Given the description of an element on the screen output the (x, y) to click on. 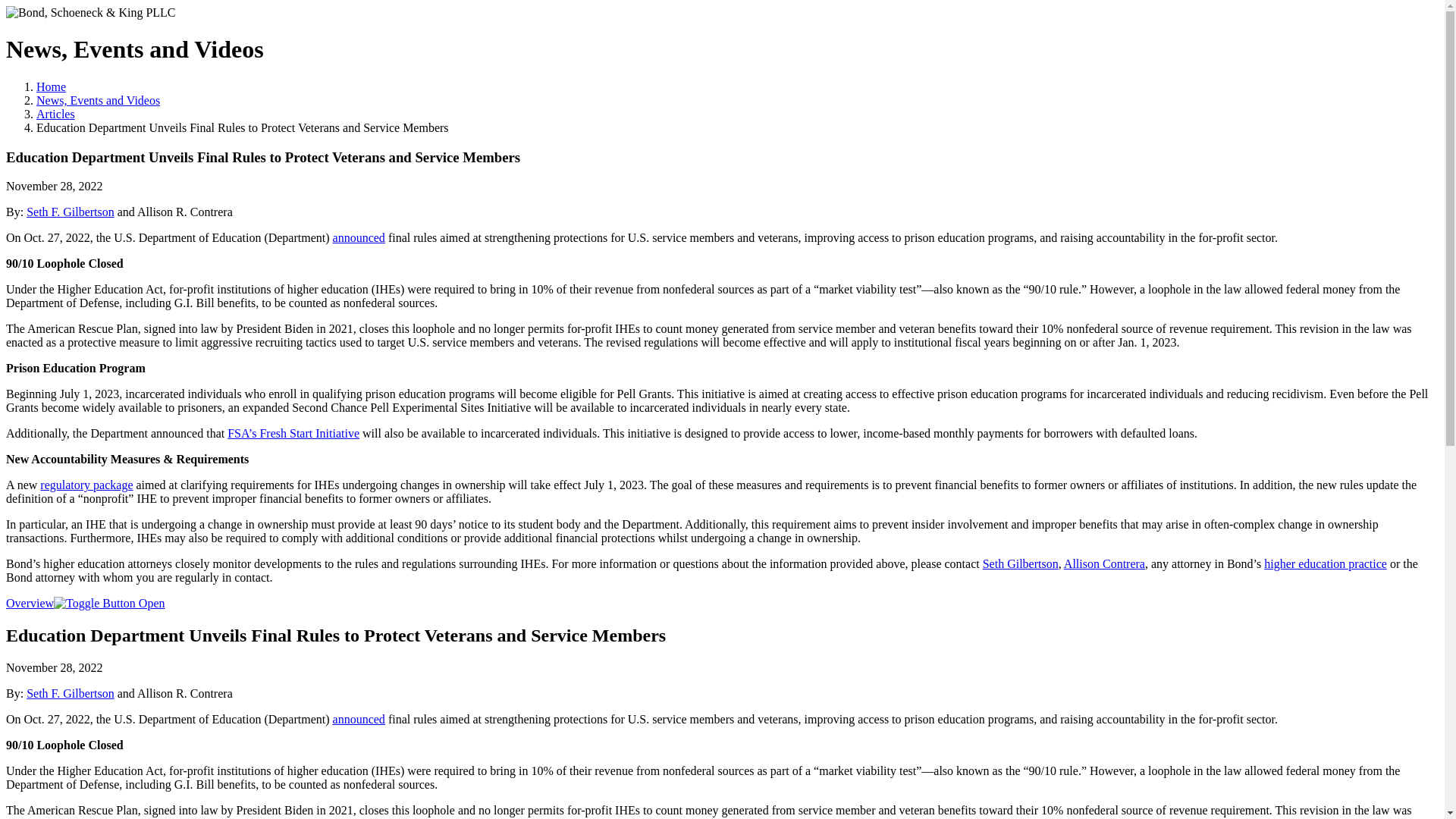
Allison Contrera (1104, 563)
Seth F. Gilbertson (70, 211)
Home (50, 86)
Seth F. Gilbertson (70, 693)
Back to Home Page (90, 11)
News, Events and Videos (98, 100)
regulatory package (86, 484)
announced (359, 237)
higher education practice (1325, 563)
Overview (85, 603)
